Given the description of an element on the screen output the (x, y) to click on. 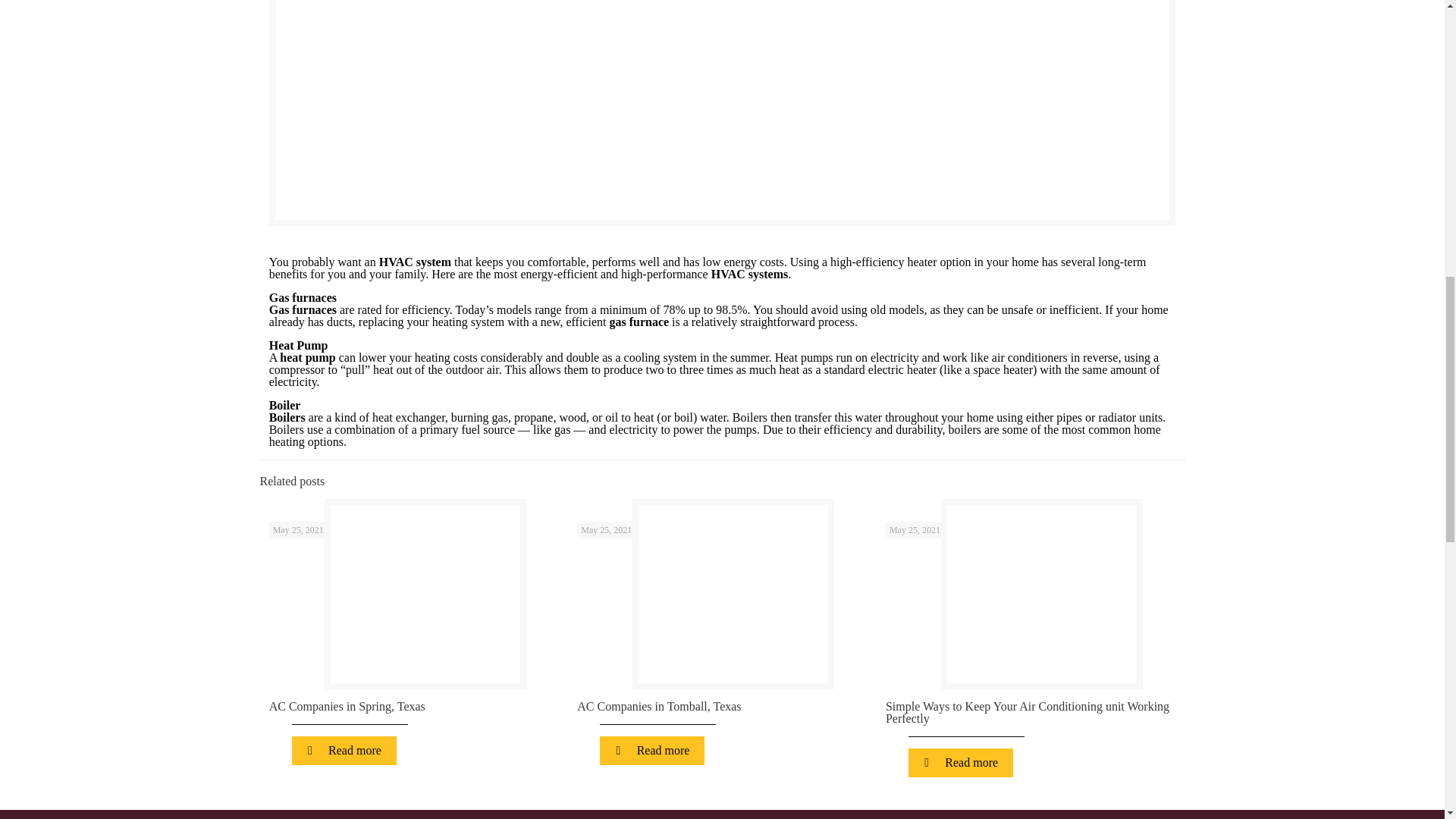
AC Companies in Spring, Texas (347, 706)
Read more (344, 750)
AC Companies in Tomball, Texas (658, 706)
Read more (651, 750)
